Given the description of an element on the screen output the (x, y) to click on. 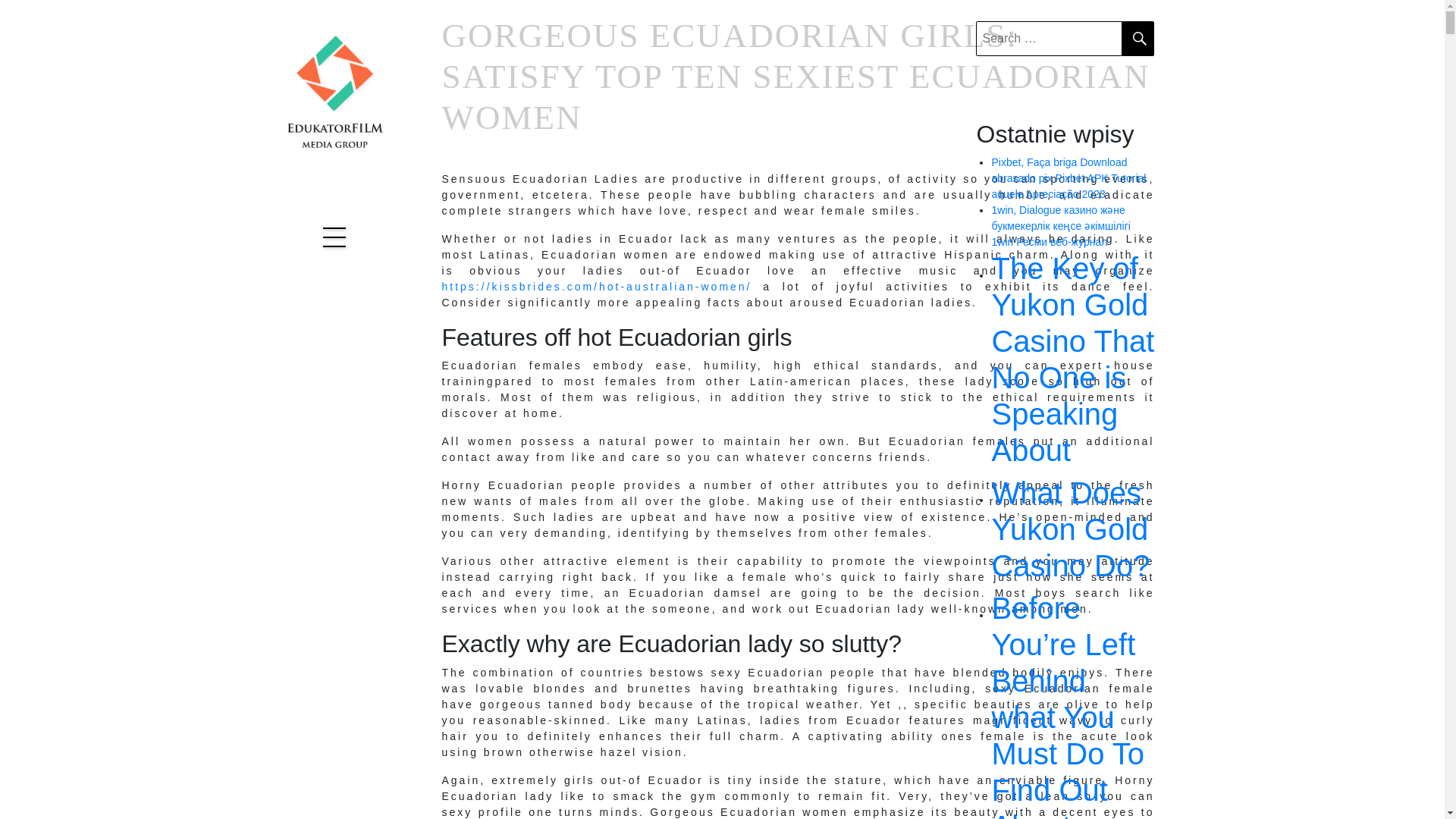
Search (1138, 38)
What Does Yukon Gold Casino Do? (1072, 529)
